Given the description of an element on the screen output the (x, y) to click on. 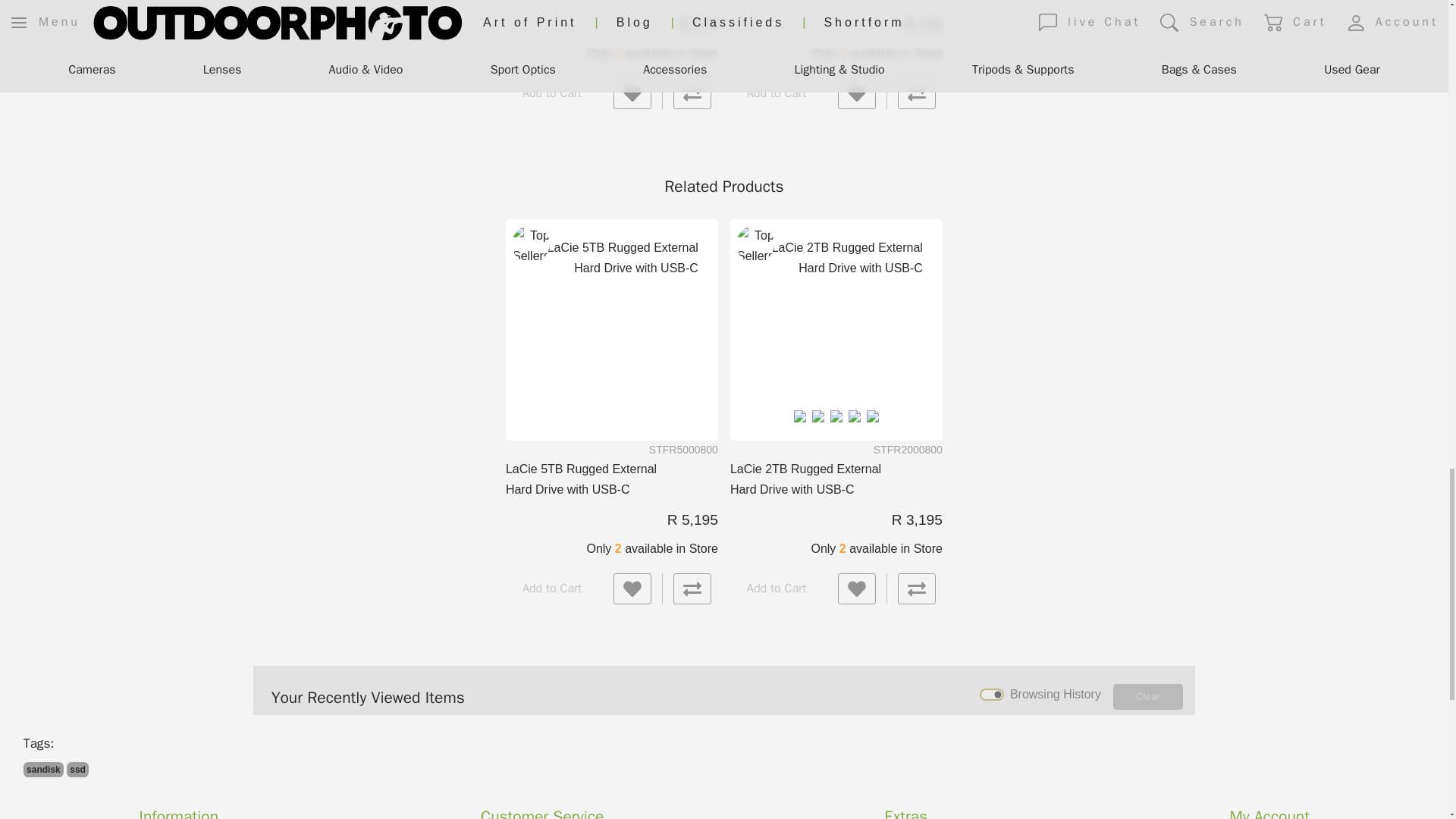
Add to Wishlist (857, 93)
Add to Wishlist (631, 589)
Compare this Product (917, 589)
Compare this Product (691, 589)
LaCie 2TB Rugged External Hard Drive with USB-C (836, 323)
on (991, 693)
Add to Wishlist (857, 589)
Compare this Product (691, 93)
LaCie 5TB Rugged External Hard Drive with USB-C (611, 323)
Compare this Product (917, 93)
